Given the description of an element on the screen output the (x, y) to click on. 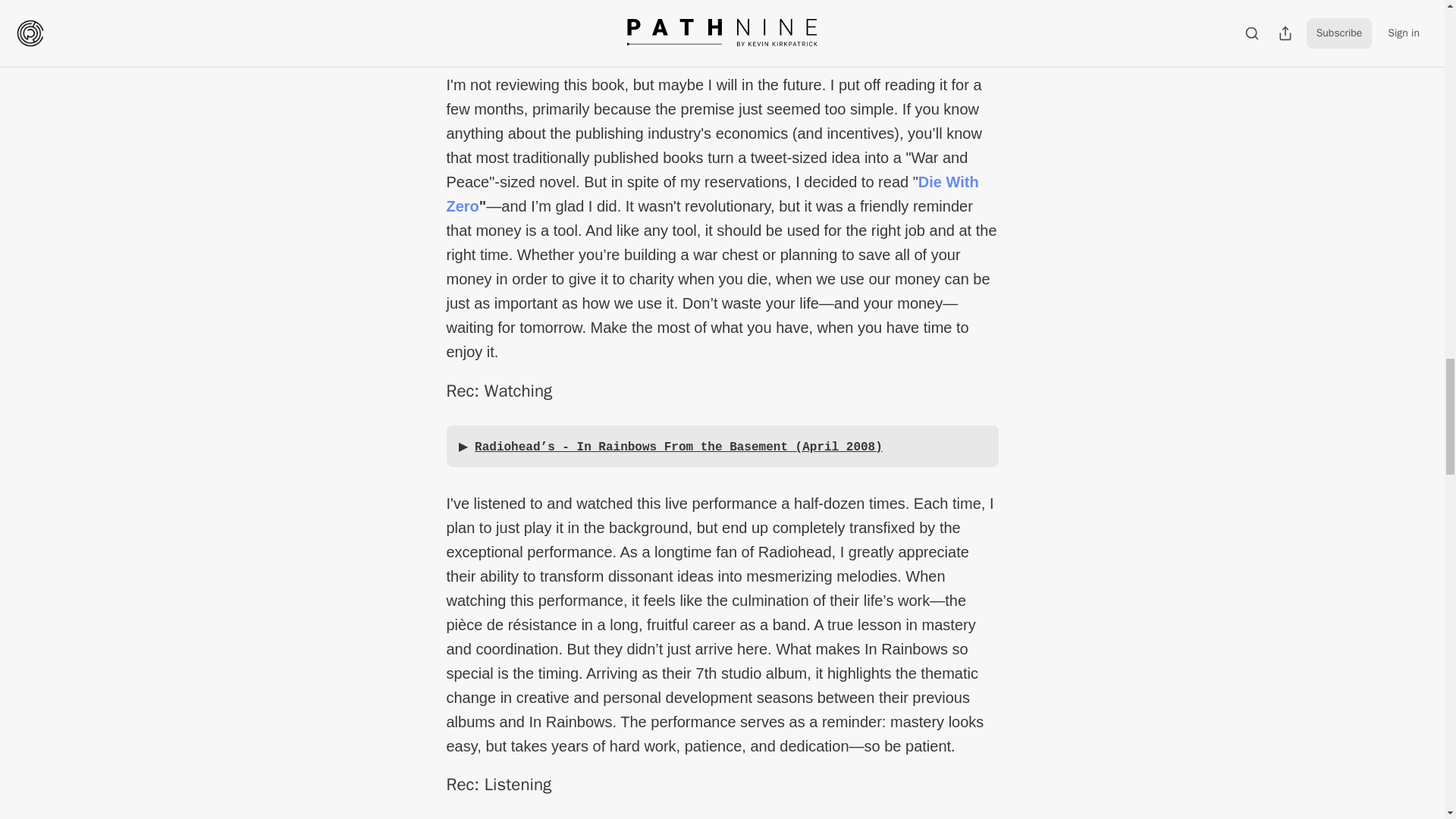
Die With Zero (711, 193)
Bill Perkins (501, 29)
